Given the description of an element on the screen output the (x, y) to click on. 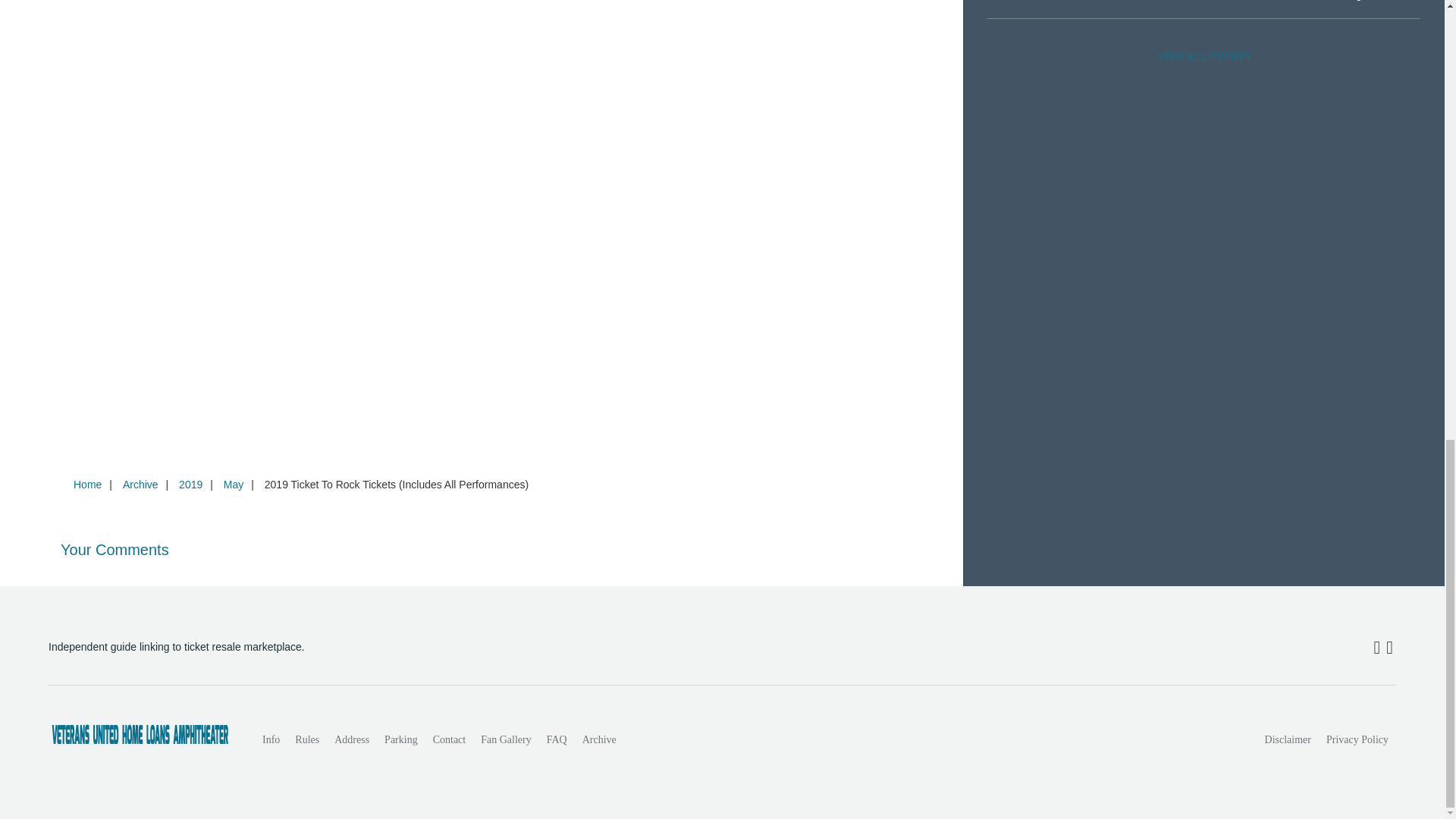
Rules (306, 739)
Disclaimer (1288, 739)
May (232, 484)
Info (270, 739)
Archive (140, 484)
Address (351, 739)
FAQ (556, 739)
Privacy Policy (1357, 739)
Home (87, 484)
Contact (449, 739)
Fan Gallery (505, 739)
Parking (401, 739)
VIEW ALL EVENTS (1203, 57)
2019 (190, 484)
Archive (599, 739)
